Given the description of an element on the screen output the (x, y) to click on. 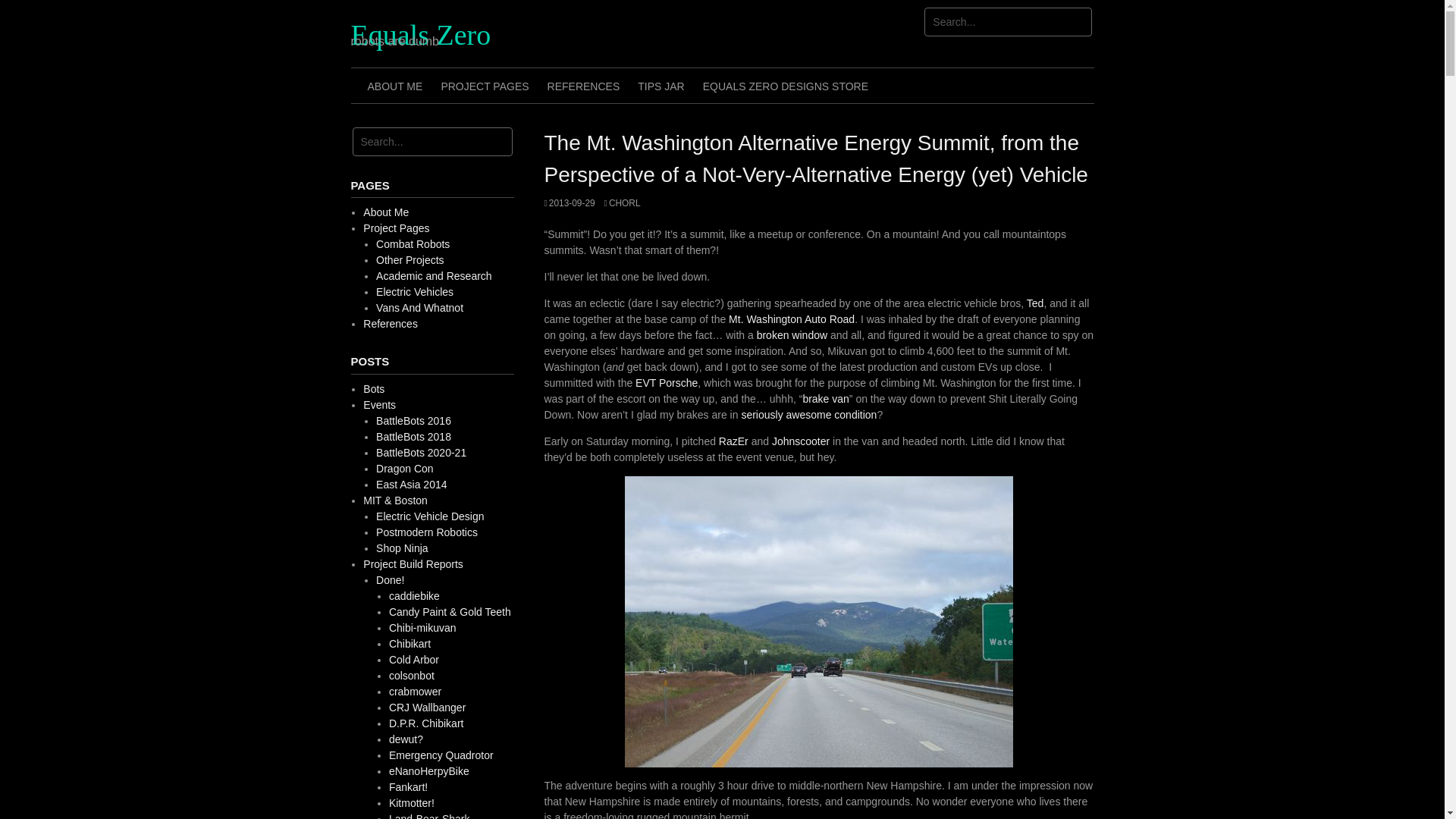
Equals Zero (420, 34)
ABOUT ME (394, 85)
PROJECT PAGES (483, 85)
Search for: (1008, 21)
Search for: (432, 141)
